Given the description of an element on the screen output the (x, y) to click on. 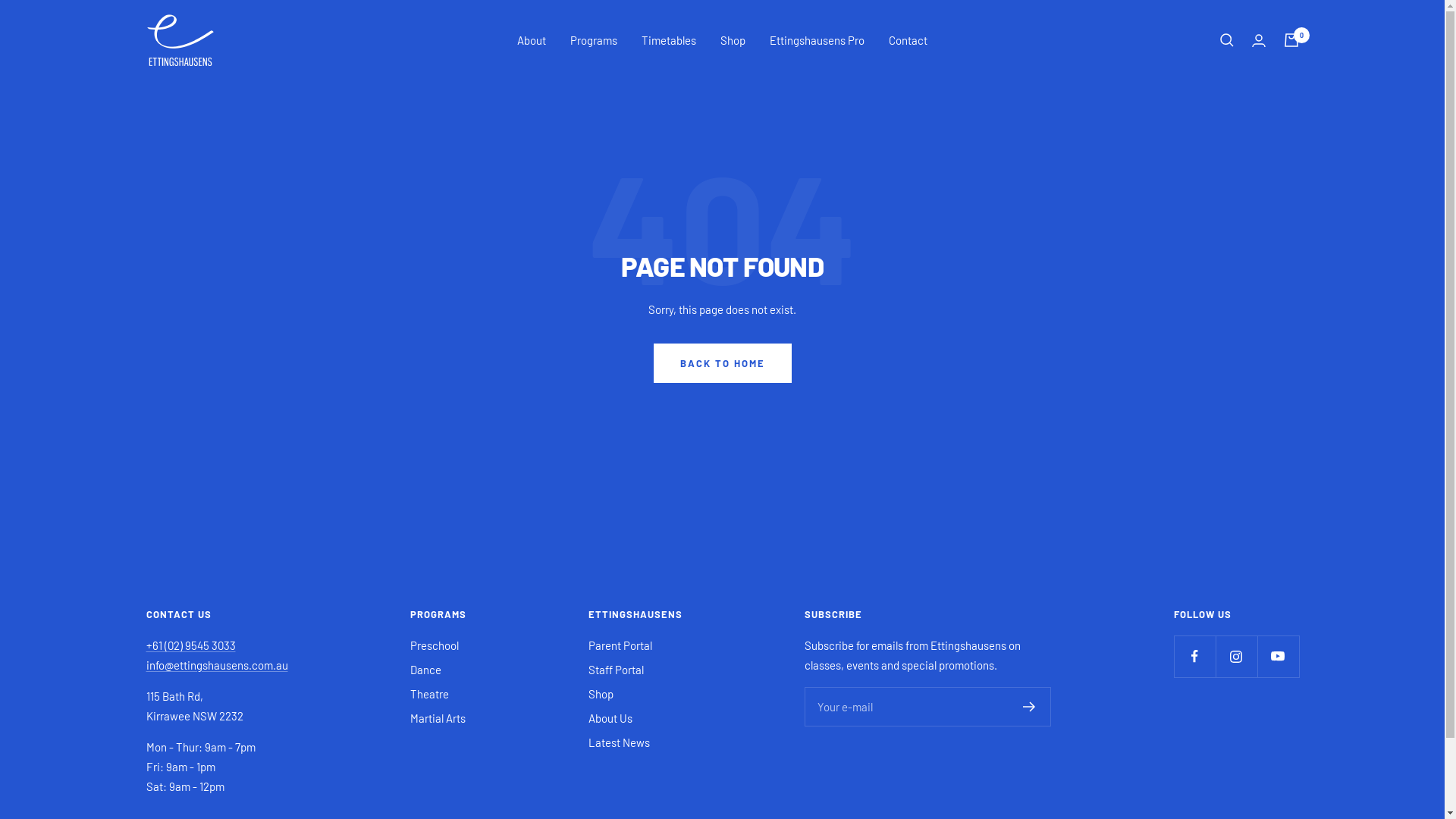
UAH Element type: text (174, 574)
UGX Element type: text (174, 593)
RON Element type: text (174, 271)
SHP Element type: text (174, 404)
MWK Element type: text (174, 24)
TWD Element type: text (174, 536)
STD Element type: text (174, 441)
USD Element type: text (174, 612)
About Element type: text (531, 40)
TTD Element type: text (174, 517)
Preschool Element type: text (434, 645)
SAR Element type: text (174, 328)
VUV Element type: text (174, 688)
XCD Element type: text (174, 745)
Ettingshausens Pro Element type: text (816, 40)
info@ettingshausens.com.au Element type: text (216, 664)
PGK Element type: text (174, 157)
PHP Element type: text (174, 176)
UZS Element type: text (174, 650)
SBD Element type: text (174, 347)
+61 (02) 9545 3033 Element type: text (190, 645)
VND Element type: text (174, 669)
Timetables Element type: text (668, 40)
QAR Element type: text (174, 252)
SEK Element type: text (174, 366)
Theatre Element type: text (429, 693)
XPF Element type: text (174, 783)
NIO Element type: text (174, 81)
Latest News Element type: text (618, 742)
Contact Element type: text (907, 40)
SGD Element type: text (174, 385)
RWF Element type: text (174, 309)
TOP Element type: text (174, 498)
TZS Element type: text (174, 555)
PEN Element type: text (174, 138)
Programs Element type: text (593, 40)
Register Element type: hover (1028, 706)
BACK TO HOME Element type: text (722, 362)
YER Element type: text (174, 802)
XOF Element type: text (174, 764)
PKR Element type: text (174, 195)
NZD Element type: text (174, 119)
Ettingshausens Element type: text (179, 40)
Staff Portal Element type: text (615, 669)
Dance Element type: text (425, 669)
WST Element type: text (174, 707)
MYR Element type: text (174, 43)
Martial Arts Element type: text (437, 718)
XAF Element type: text (174, 726)
UYU Element type: text (174, 631)
TJS Element type: text (174, 479)
Parent Portal Element type: text (620, 645)
PLN Element type: text (174, 214)
Shop Element type: text (732, 40)
SLL Element type: text (174, 422)
RSD Element type: text (174, 290)
NPR Element type: text (174, 100)
NGN Element type: text (174, 62)
THB Element type: text (174, 460)
Shop Element type: text (600, 693)
PYG Element type: text (174, 233)
About Us Element type: text (610, 718)
0 Element type: text (1290, 40)
